Given the description of an element on the screen output the (x, y) to click on. 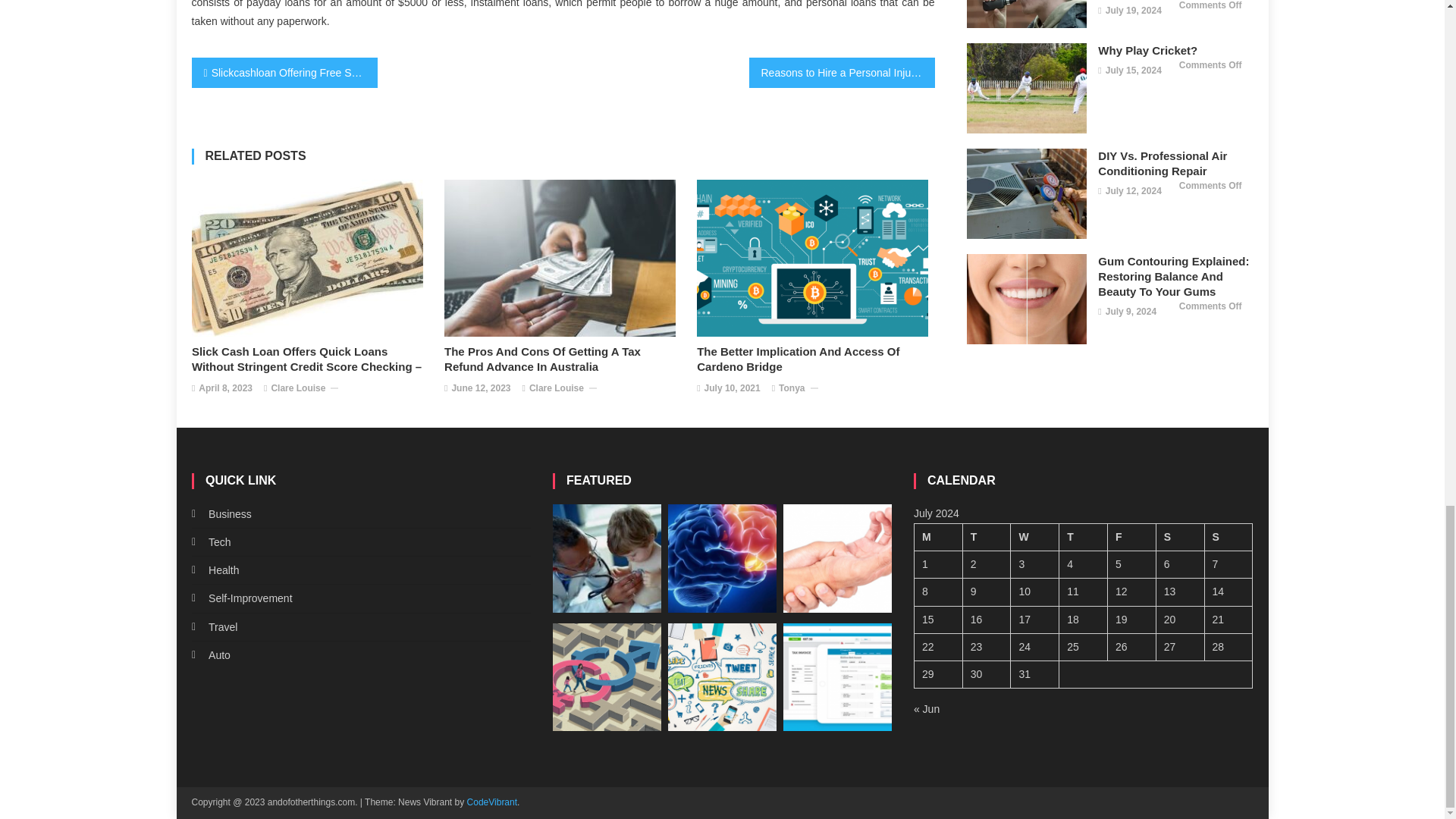
Sunday (1228, 537)
Friday (1131, 537)
Monday (938, 537)
April 8, 2023 (224, 388)
Saturday (1180, 537)
Tonya (791, 388)
Clare Louise (556, 388)
Tuesday (986, 537)
July 10, 2021 (732, 388)
Clare Louise (297, 388)
The Better Implication And Access Of Cardeno Bridge (815, 358)
Wednesday (1034, 537)
June 12, 2023 (481, 388)
